Given the description of an element on the screen output the (x, y) to click on. 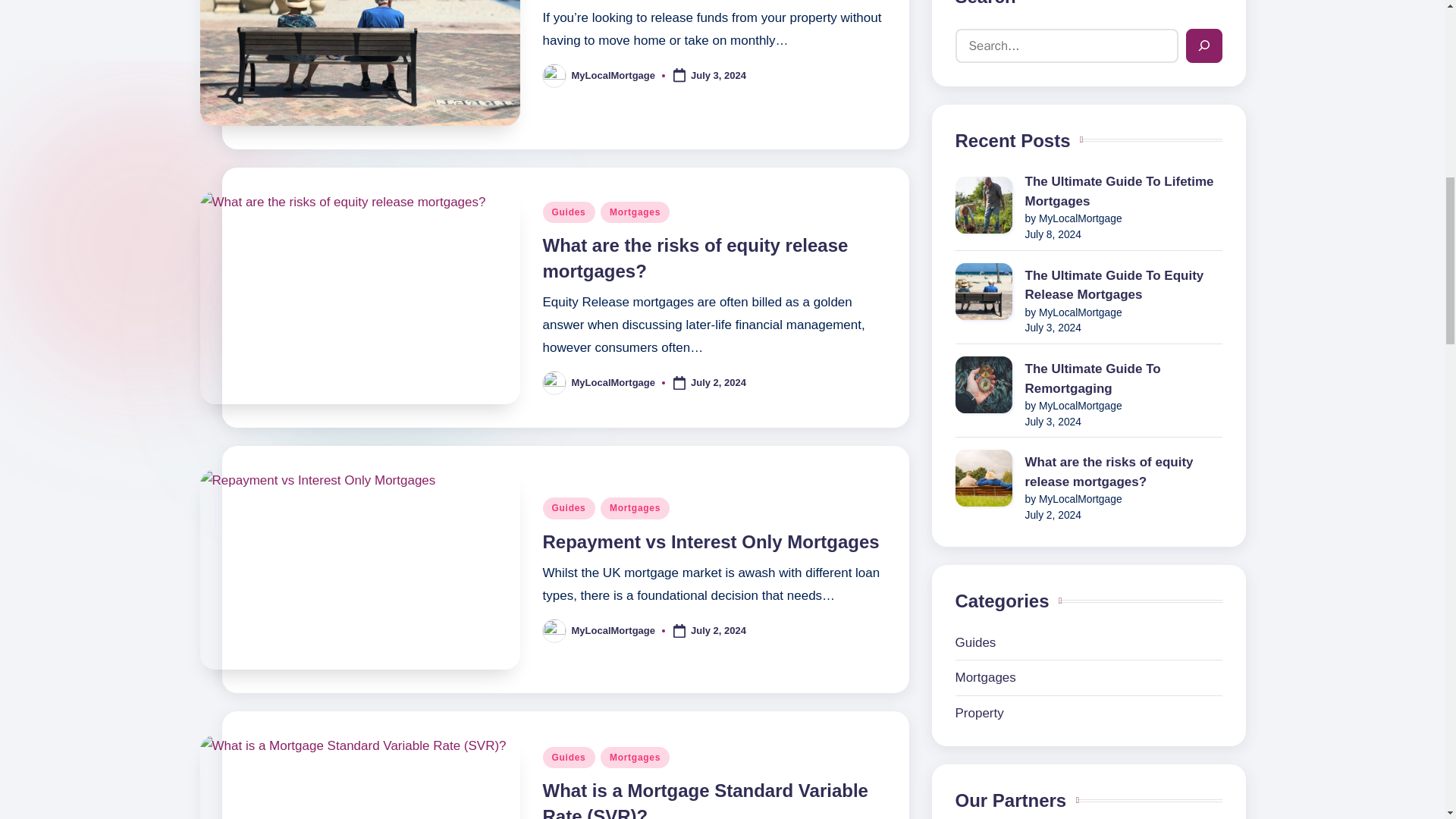
View all posts by MyLocalMortgage (614, 382)
View all posts by MyLocalMortgage (614, 75)
What are the risks of equity release mortgages? (695, 258)
View all posts by MyLocalMortgage (614, 630)
Repayment vs Interest Only Mortgages (711, 541)
